Given the description of an element on the screen output the (x, y) to click on. 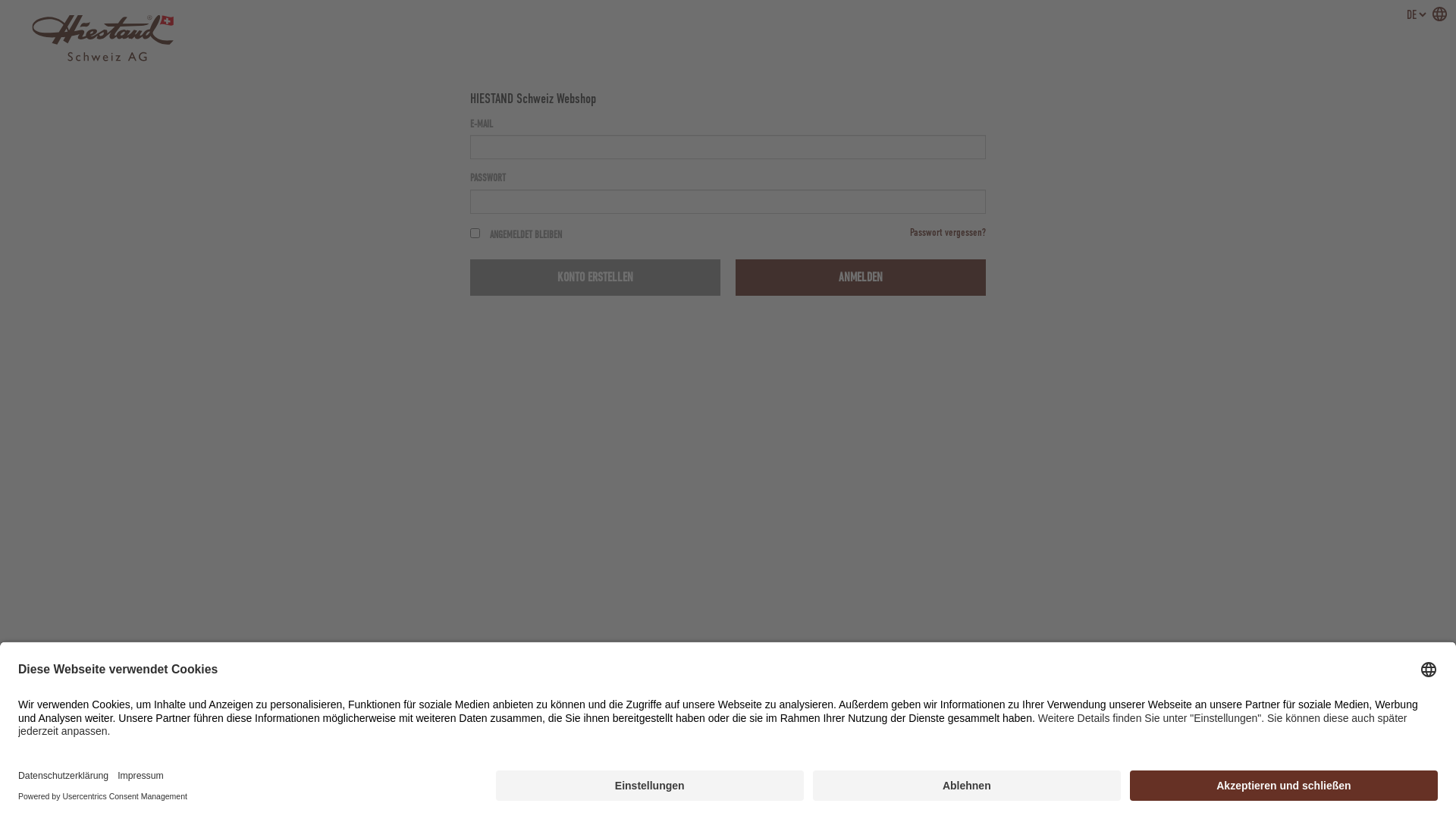
ANMELDEN Element type: text (860, 277)
Passwort vergessen? Element type: text (947, 231)
KONTO ERSTELLEN Element type: text (595, 277)
